Given the description of an element on the screen output the (x, y) to click on. 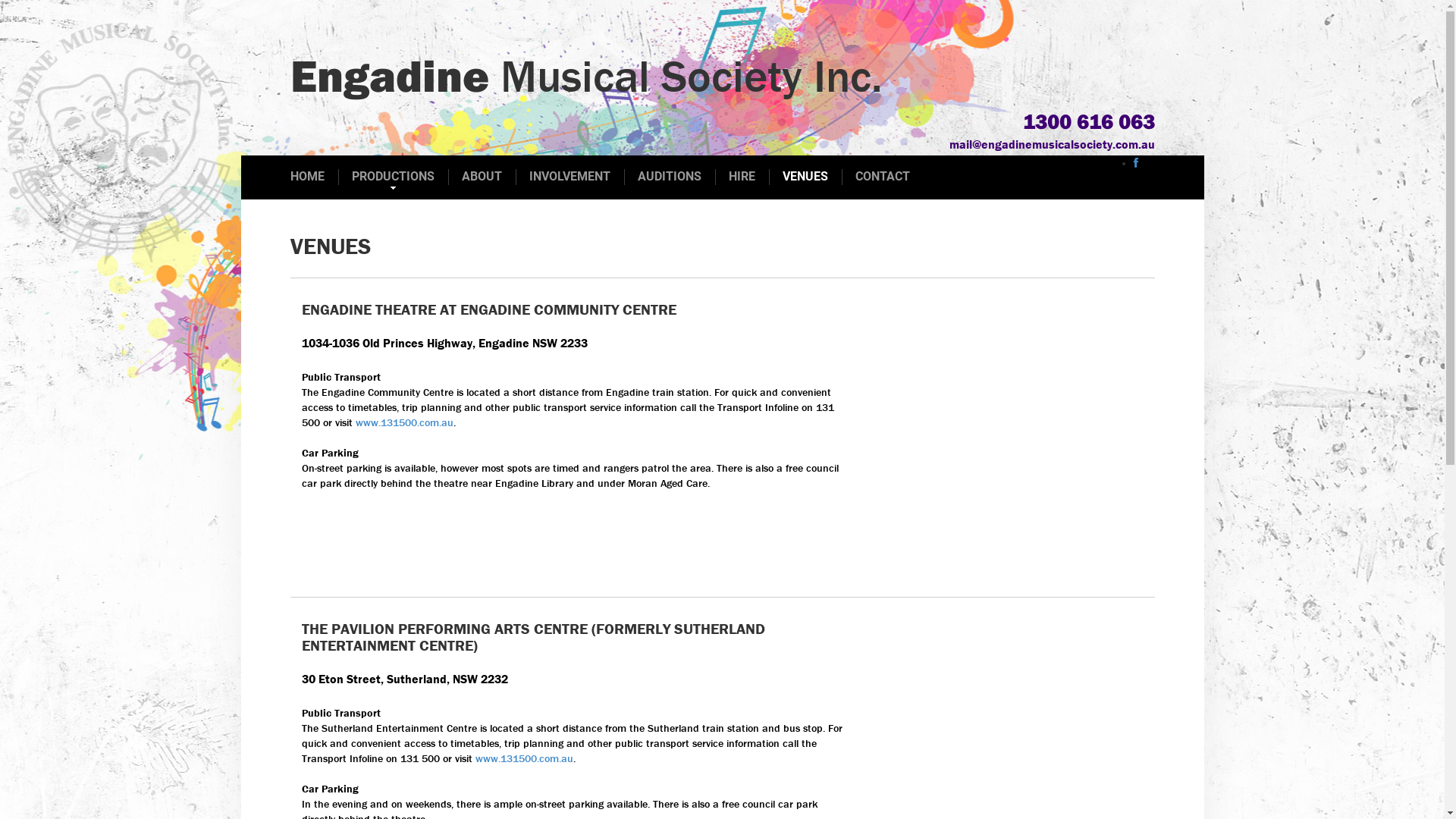
HOME Element type: text (306, 176)
AUDITIONS Element type: text (668, 176)
VENUES Element type: text (805, 176)
HIRE Element type: text (741, 176)
ABOUT Element type: text (481, 176)
www.131500.com.au Element type: text (403, 422)
www.131500.com.au Element type: text (523, 758)
PRODUCTIONS Element type: text (392, 176)
INVOLVEMENT Element type: text (569, 176)
mail@engadinemusicalsociety.com.au Element type: text (1051, 143)
CONTACT Element type: text (882, 176)
